Given the description of an element on the screen output the (x, y) to click on. 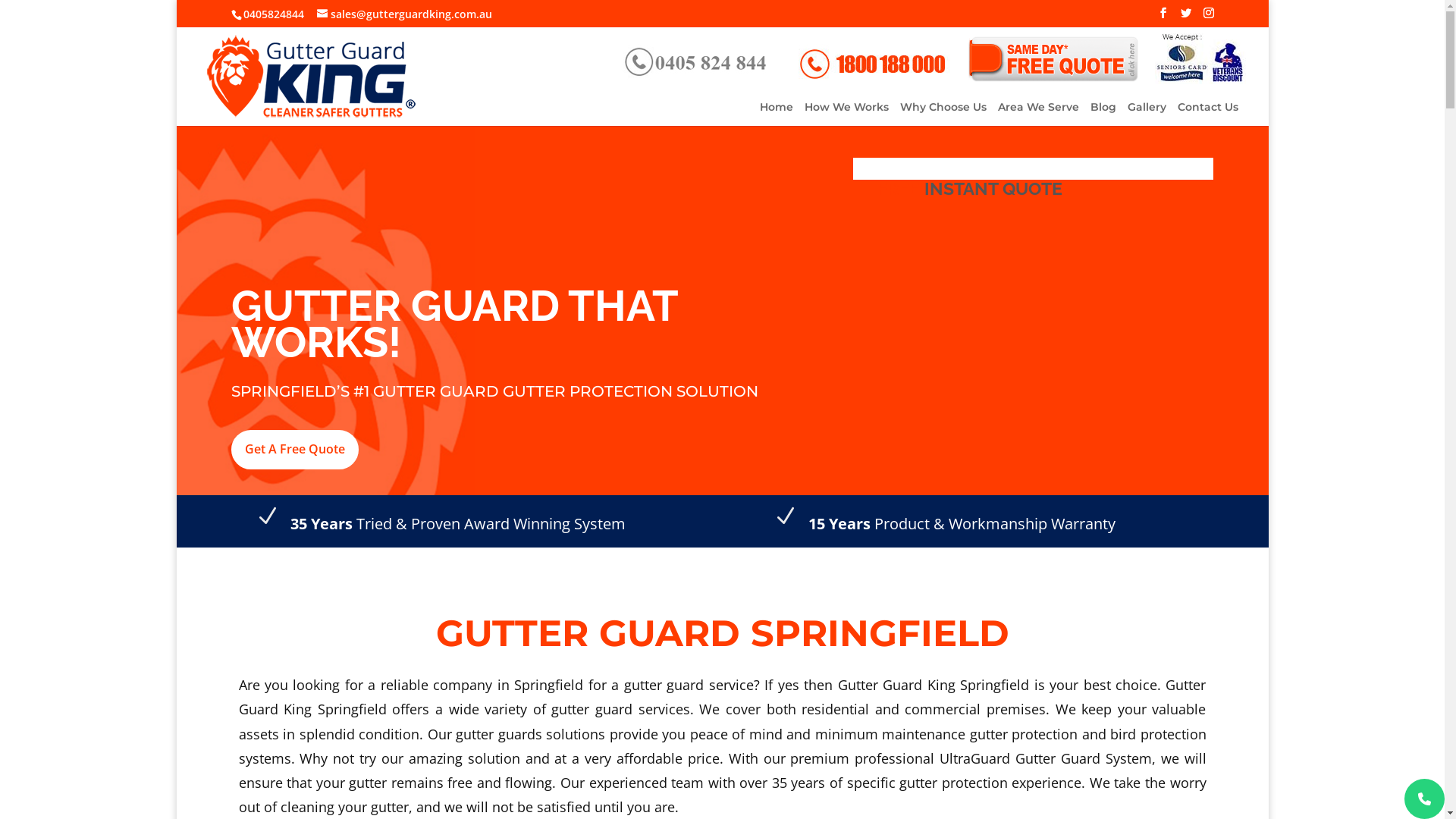
Blog Element type: text (1103, 113)
Area We Serve Element type: text (1038, 113)
How We Works Element type: text (845, 113)
sales@gutterguardking.com.au Element type: text (404, 13)
0405824844 Element type: text (272, 13)
Why Choose Us Element type: text (942, 113)
Home Element type: text (776, 113)
Gallery Element type: text (1145, 113)
Get A Free Quote Element type: text (293, 448)
Contact Us Element type: text (1206, 113)
